Given the description of an element on the screen output the (x, y) to click on. 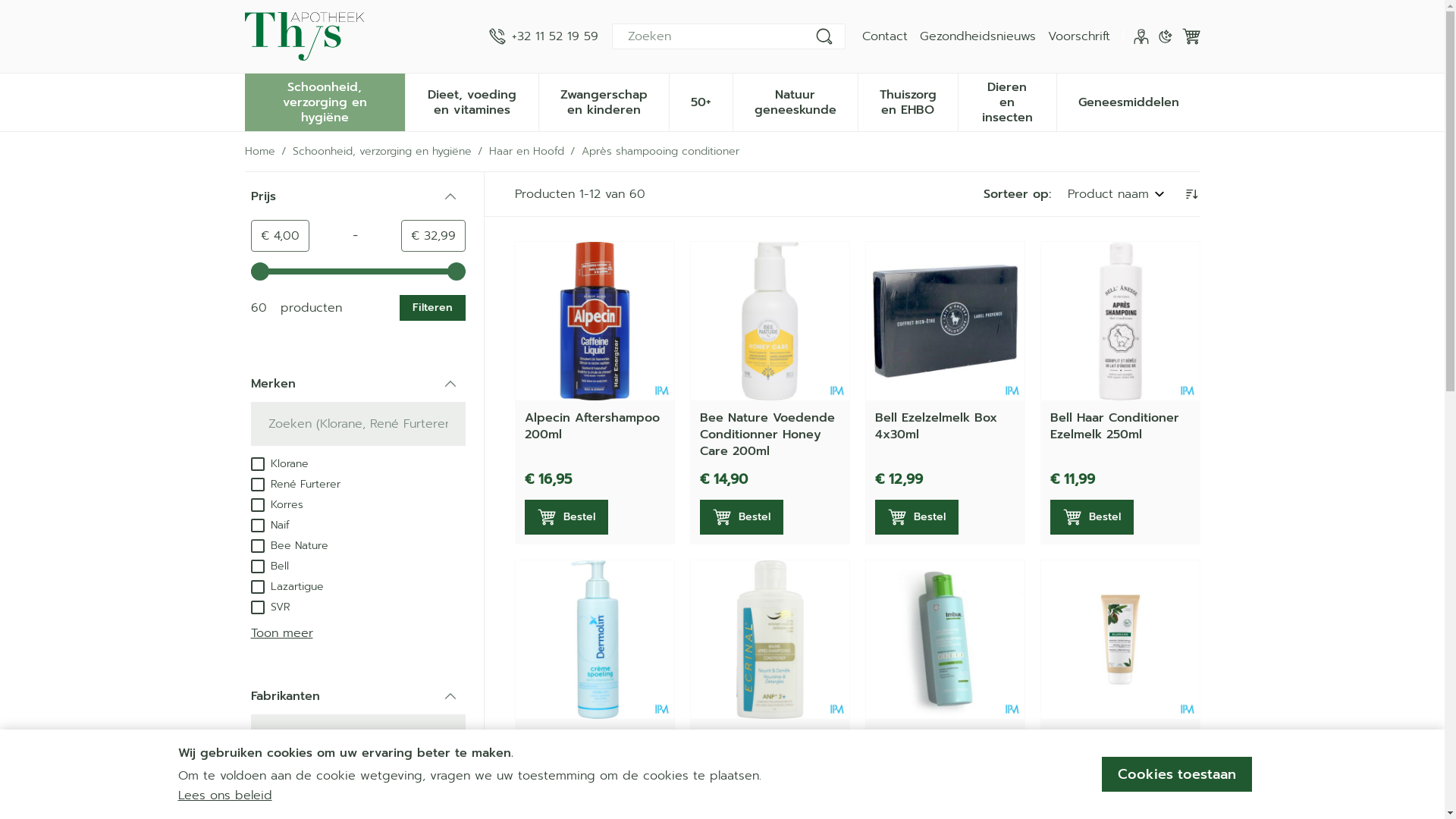
Alpecin Aftershampoo 200ml Element type: text (591, 425)
Lazartigue Element type: text (286, 586)
+32 11 52 19 59 Element type: text (542, 36)
Haar en Hoofd Element type: text (525, 151)
Lees ons beleid Element type: text (224, 795)
Klant menu Element type: text (1140, 35)
Geneesmiddelen Element type: text (1128, 100)
on Element type: text (256, 776)
Toon meer Element type: text (281, 633)
on Element type: text (256, 796)
Donkere modus Element type: text (1164, 35)
Bestel Element type: text (1090, 516)
Zwangerschap en kinderen Element type: text (603, 100)
Pierre Fabre Element type: text (291, 775)
Filteren Element type: text (431, 307)
Cookies toestaan Element type: text (1176, 773)
Greendock Element type: text (288, 796)
Alpecin Aftershampoo 200ml Element type: hover (594, 320)
50+ Element type: text (700, 100)
Klorane Capil. Balsem Cupuacu 200ml Element type: hover (1119, 639)
Bestel Element type: text (566, 516)
SVR Element type: text (269, 606)
Korres Element type: text (276, 504)
Naif Element type: text (269, 524)
Aflopende richting instellen Element type: hover (1190, 193)
on Element type: text (256, 504)
Imbue Curl Conditioner 400ml Element type: text (931, 744)
Dieet, voeding en vitamines Element type: text (471, 100)
Klorane Element type: text (278, 463)
Voorschrift Element type: text (1079, 36)
Bee Nature Element type: text (288, 545)
Dermolin Cremespoeling Nf Tube 200ml Element type: text (578, 752)
Dieren en insecten Element type: text (1007, 100)
Ecrinal Haarbalsem Conditioner Anp2+ 250ml Element type: hover (769, 639)
Klorane Capil. Balsem Cupuacu 200ml Element type: text (1113, 744)
Bell Haar Conditioner Ezelmelk 250ml Element type: text (1113, 425)
Ecrinal Haarbalsem Conditioner Anp2+ 250ml Element type: text (755, 752)
Bell Haar Conditioner Ezelmelk 250ml Element type: hover (1119, 320)
on Element type: text (256, 607)
on Element type: text (256, 566)
Bell Element type: text (269, 565)
Home Element type: text (259, 151)
Imbue Curl Conditioner 400ml Element type: hover (945, 639)
Bestel Element type: text (916, 516)
Apotheek Thys Element type: hover (360, 36)
on Element type: text (256, 586)
Dermolin Cremespoeling Nf Tube 200ml Element type: hover (594, 639)
Contact Element type: text (883, 36)
Bell Ezelzelmelk Box 4x30ml Element type: text (936, 425)
Natuur geneeskunde Element type: text (795, 100)
on Element type: text (256, 545)
Bestel Element type: text (740, 516)
Winkelwagen Element type: text (1190, 36)
Bee Nature Voedende Conditionner Honey Care 200ml Element type: text (766, 434)
Zoeken Element type: text (823, 36)
Thuiszorg en EHBO Element type: text (907, 100)
Bee Nature Voedende Conditionner Honey Care 200ml Element type: hover (769, 320)
on Element type: text (256, 525)
Apotheek Thys Element type: hover (303, 35)
on Element type: text (256, 484)
Bell Ezelzelmelk Box 4x30ml Element type: hover (945, 320)
on Element type: text (256, 463)
Gezondheidsnieuws Element type: text (977, 36)
